Given the description of an element on the screen output the (x, y) to click on. 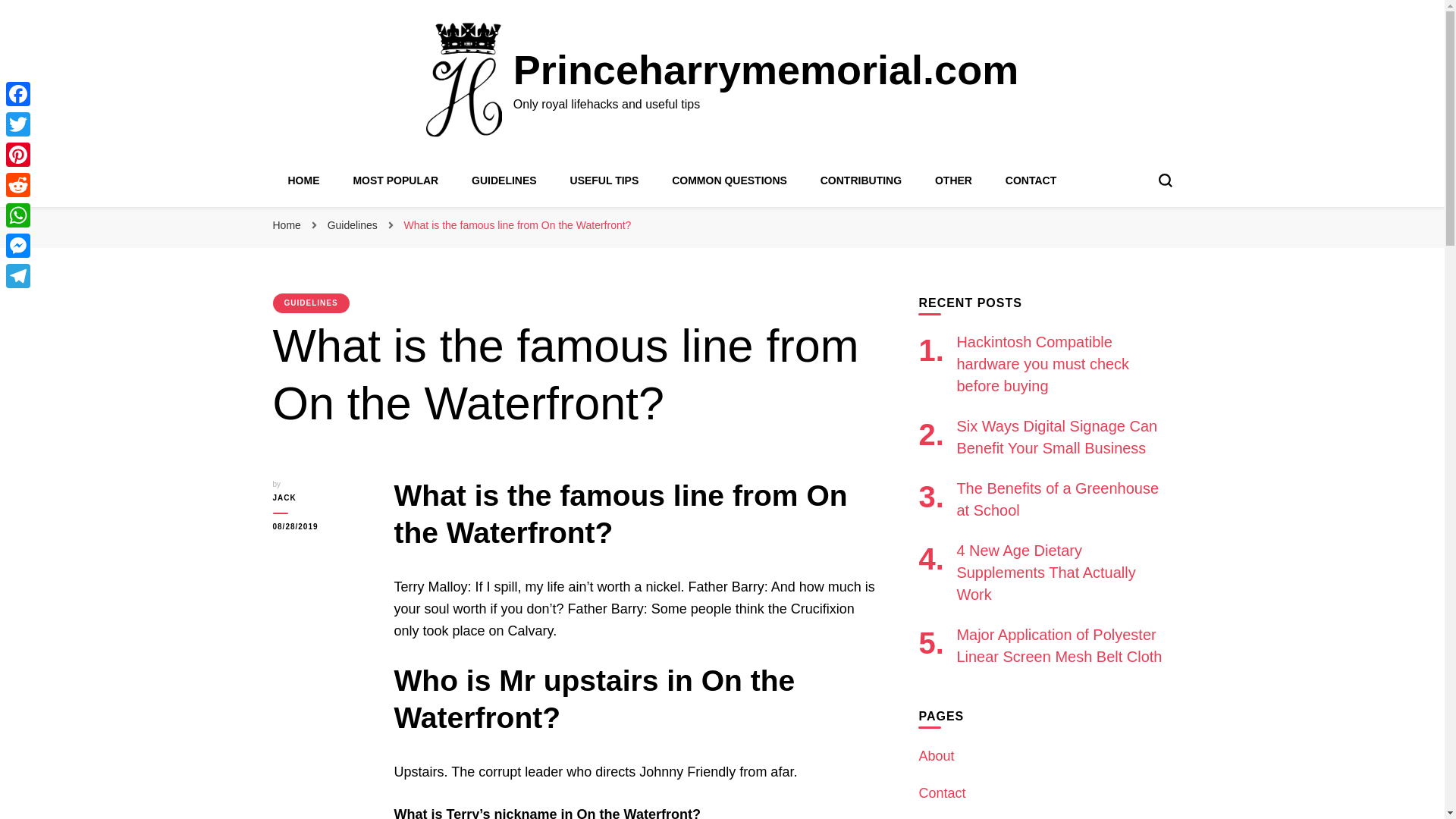
Princeharrymemorial.com (765, 69)
What is the famous line from On the Waterfront? (517, 224)
OTHER (953, 180)
WhatsApp (17, 214)
JACK (322, 498)
Home (287, 224)
COMMON QUESTIONS (729, 180)
MOST POPULAR (395, 180)
GUIDELINES (311, 302)
Reddit (17, 184)
HOME (304, 180)
CONTACT (1031, 180)
Pinterest (17, 154)
Guidelines (353, 224)
CONTRIBUTING (861, 180)
